Given the description of an element on the screen output the (x, y) to click on. 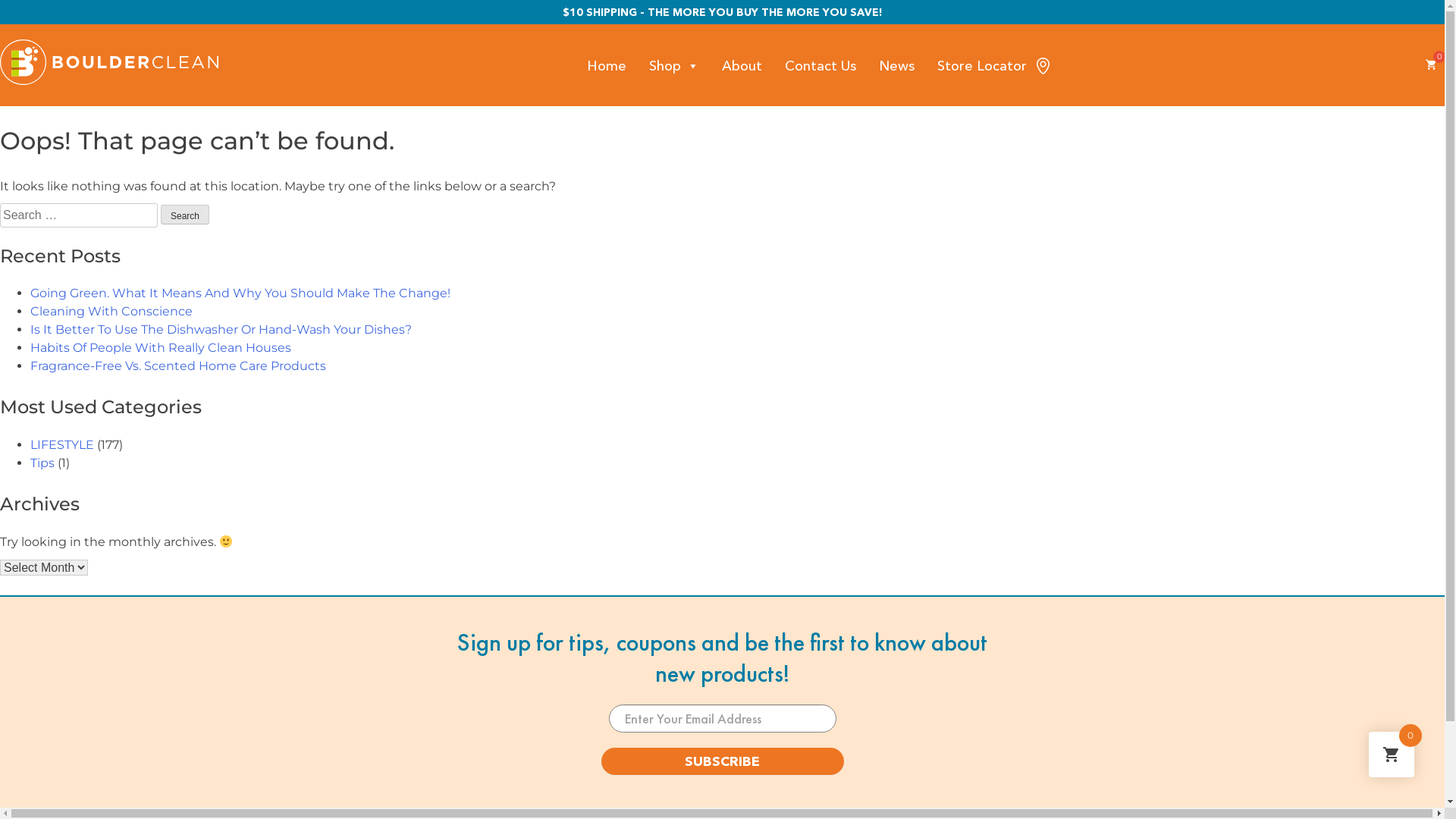
Contact Us Element type: text (820, 65)
Store Locator Element type: text (981, 65)
SUBSCRIBE Element type: text (721, 761)
$10 SHIPPING - THE MORE YOU BUY THE MORE YOU SAVE! Element type: text (722, 12)
Shop Element type: text (673, 65)
Is It Better To Use The Dishwasher Or Hand-Wash Your Dishes? Element type: text (220, 329)
Habits Of People With Really Clean Houses Element type: text (160, 347)
About Element type: text (741, 65)
Home Element type: text (606, 65)
Tips Element type: text (42, 462)
LIFESTYLE Element type: text (62, 444)
Cleaning With Conscience Element type: text (111, 311)
Search Element type: text (184, 214)
Fragrance-Free Vs. Scented Home Care Products Element type: text (178, 365)
News Element type: text (896, 65)
